Given the description of an element on the screen output the (x, y) to click on. 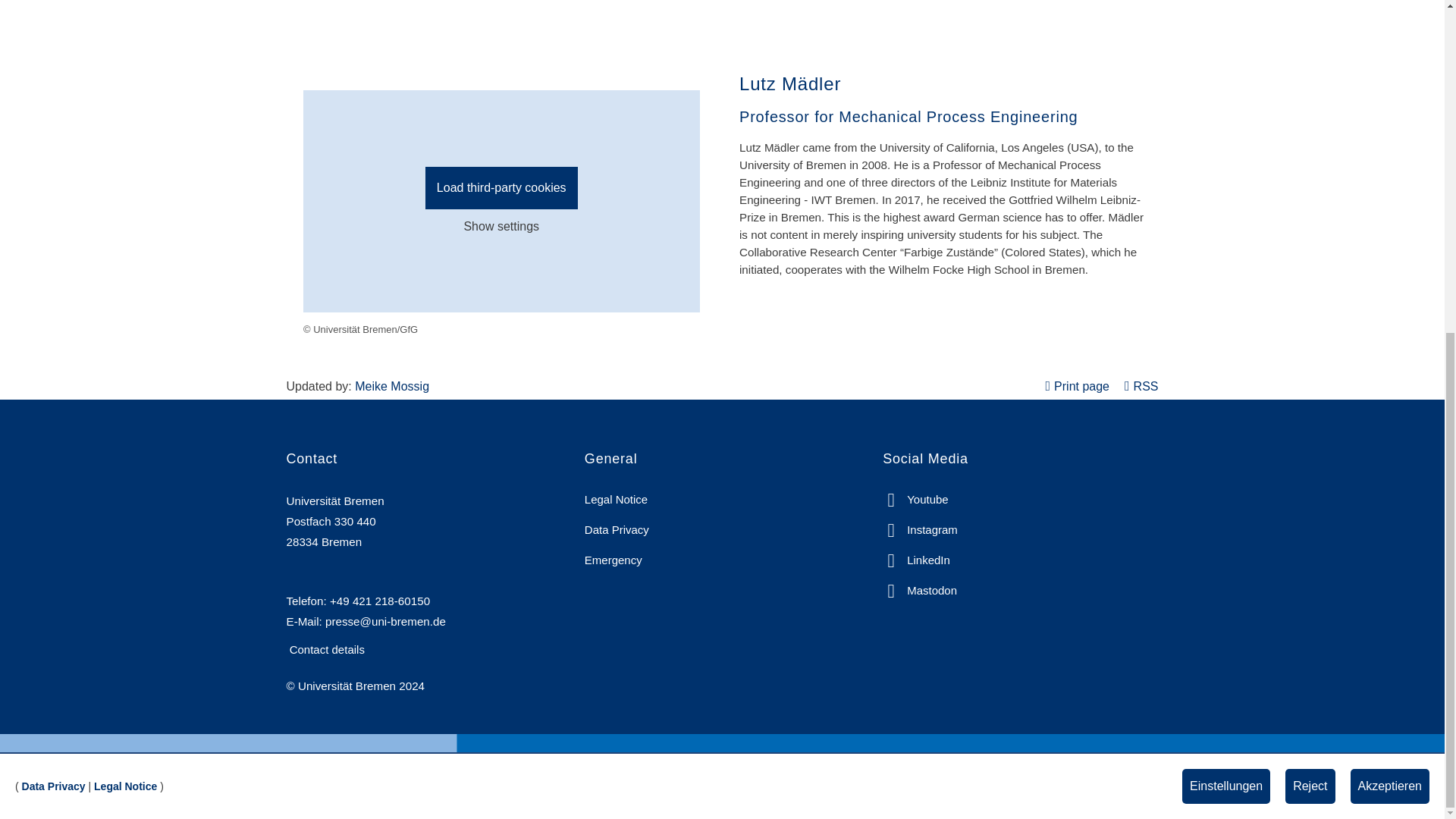
Open link to Linked In in a new window (916, 559)
Scroll to the bottom of the page (1411, 230)
Seite als RSS Feed (1140, 386)
Open link to Mastodon in a new window (919, 590)
Open link to Instagram in a new window (920, 529)
